Given the description of an element on the screen output the (x, y) to click on. 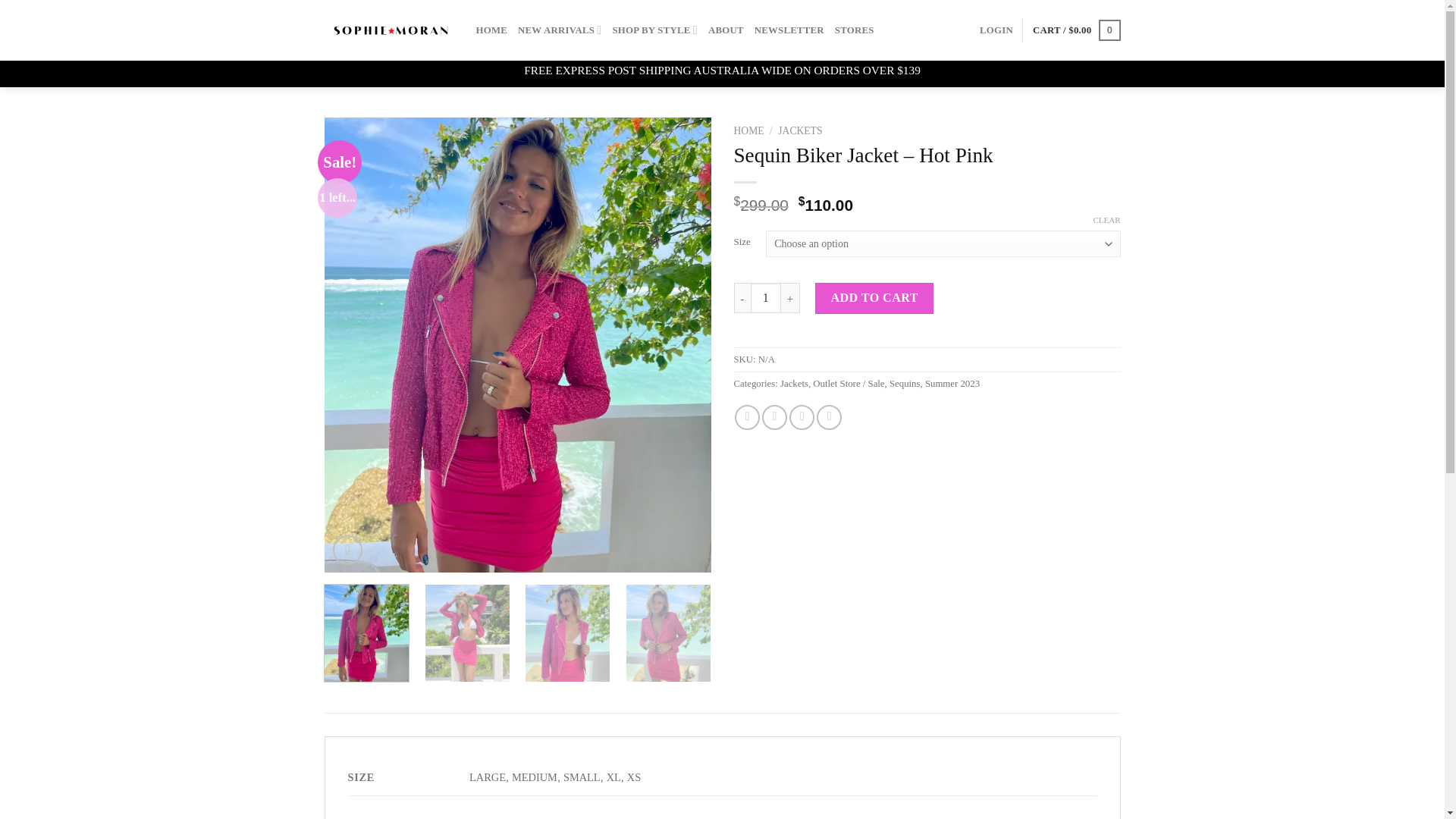
ABOUT (725, 30)
1 (765, 297)
HOME (492, 30)
Cart (1076, 30)
Share on Facebook (747, 416)
Share on Twitter (774, 416)
Zoom (347, 550)
STORES (854, 30)
Pin on Pinterest (828, 416)
LOGIN (996, 30)
